Given the description of an element on the screen output the (x, y) to click on. 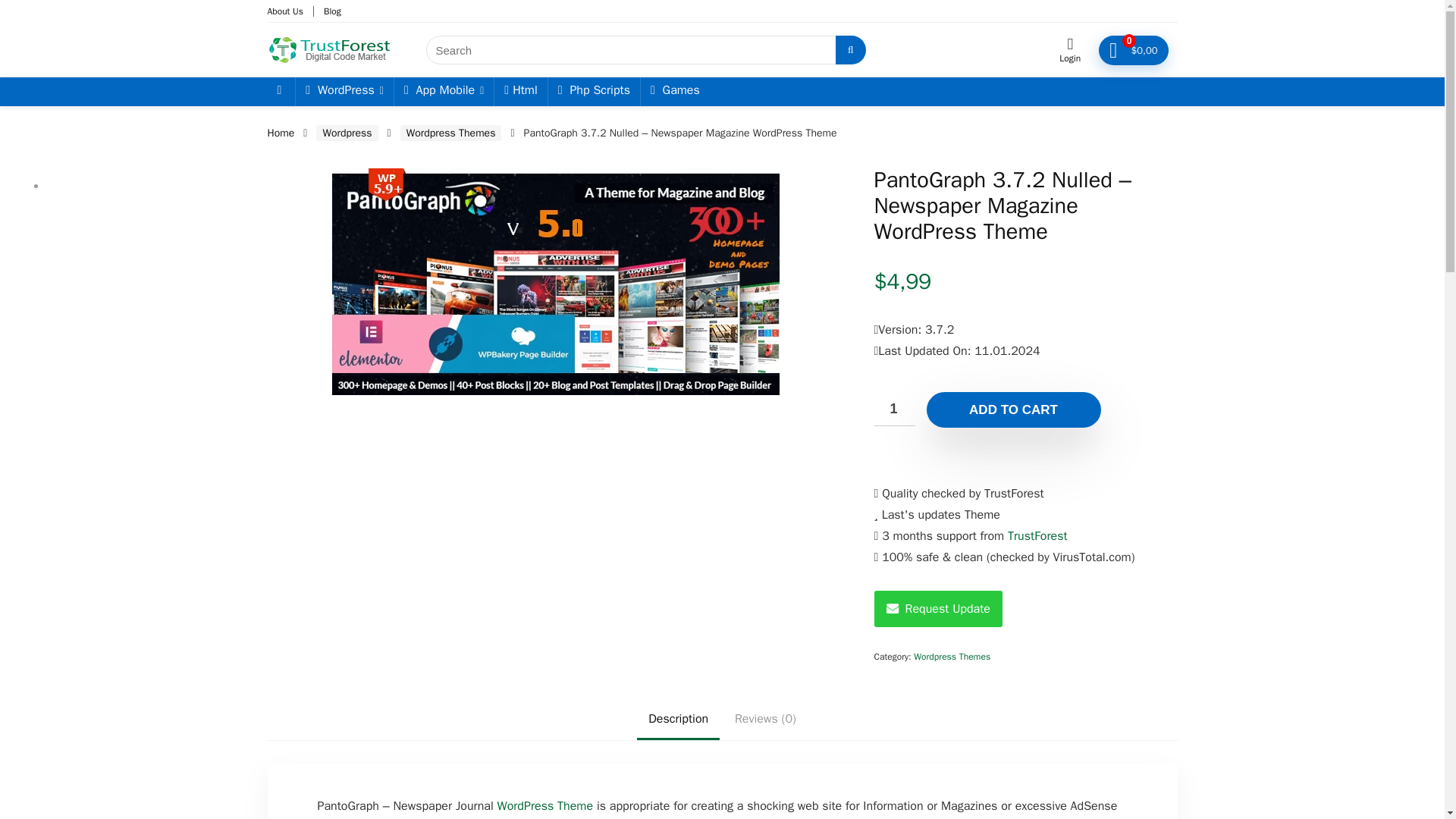
Games (675, 91)
Wordpress Themes (952, 656)
Wordpress Themes (451, 132)
Html (521, 91)
Blog (331, 10)
Description (678, 718)
ADD TO CART (1013, 409)
WordPress (344, 91)
Home (280, 132)
Wordpress Themes (545, 806)
App Mobile (443, 91)
Php Scripts (594, 91)
WordPress Theme (545, 806)
TrustForest (1037, 535)
About Us (284, 10)
